Given the description of an element on the screen output the (x, y) to click on. 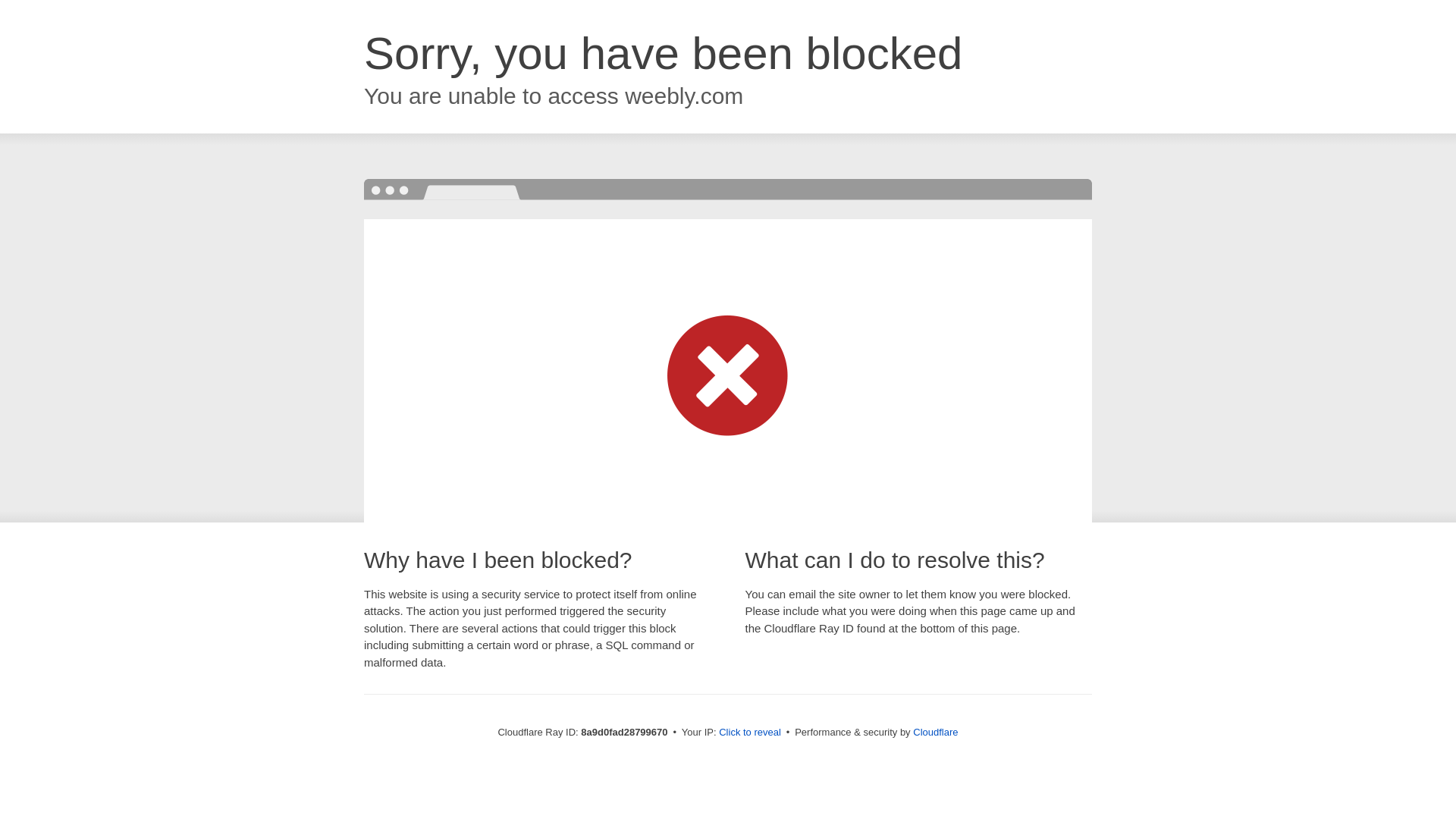
Cloudflare (935, 731)
Click to reveal (749, 732)
